Given the description of an element on the screen output the (x, y) to click on. 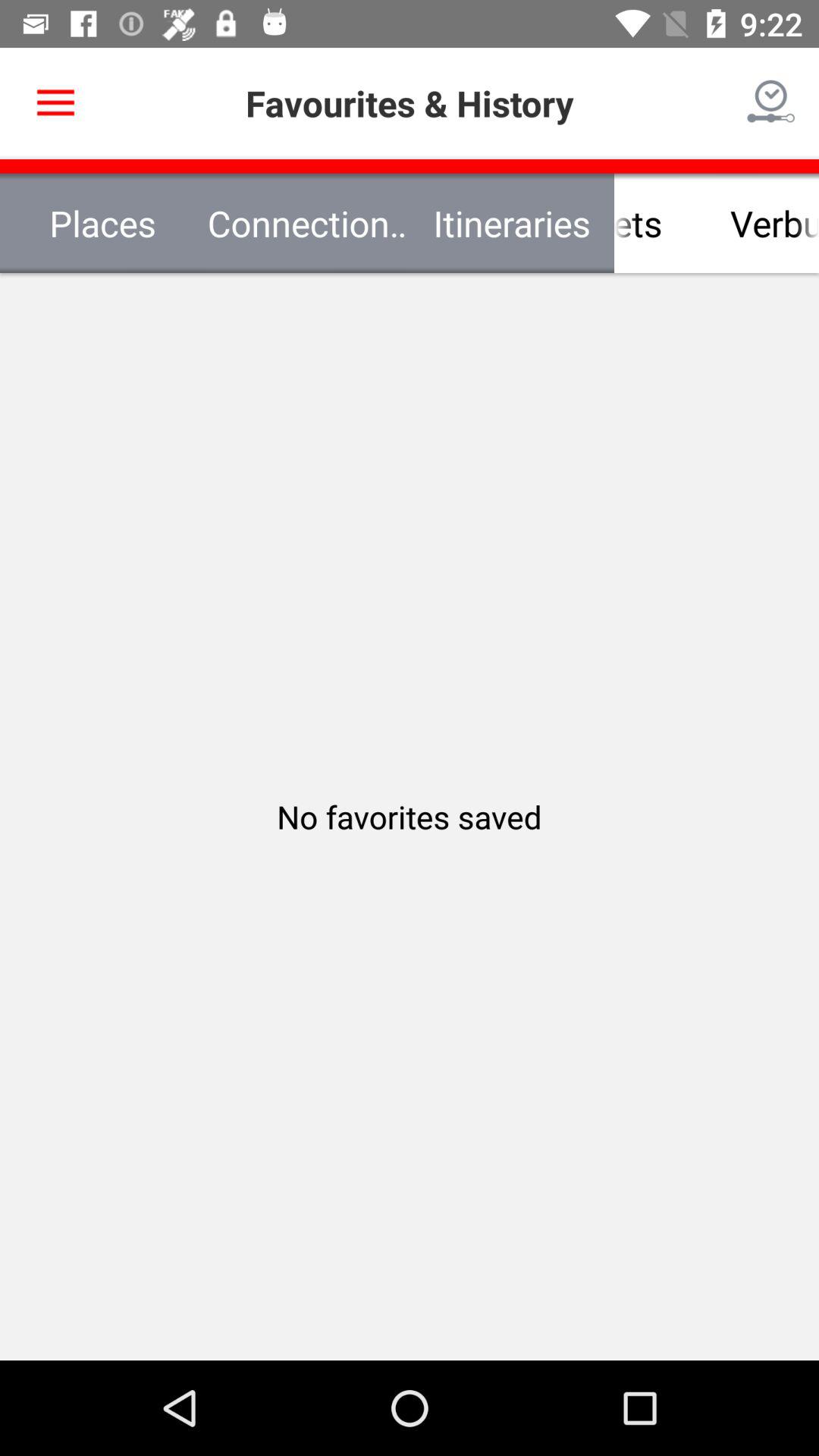
press the item next to the connection requests icon (102, 223)
